Given the description of an element on the screen output the (x, y) to click on. 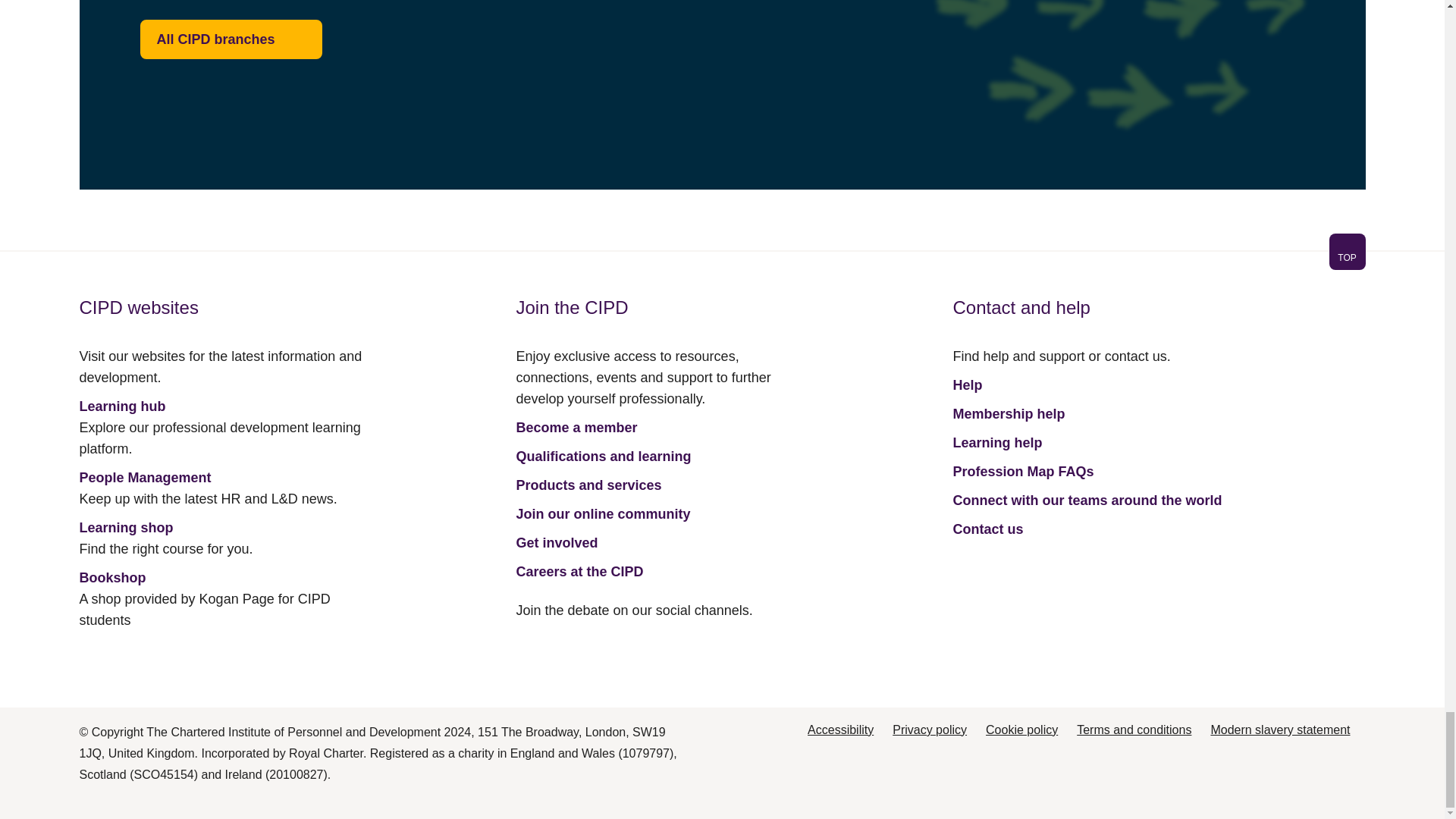
TOP (1346, 257)
TOP (721, 260)
TOP (1346, 251)
